Given the description of an element on the screen output the (x, y) to click on. 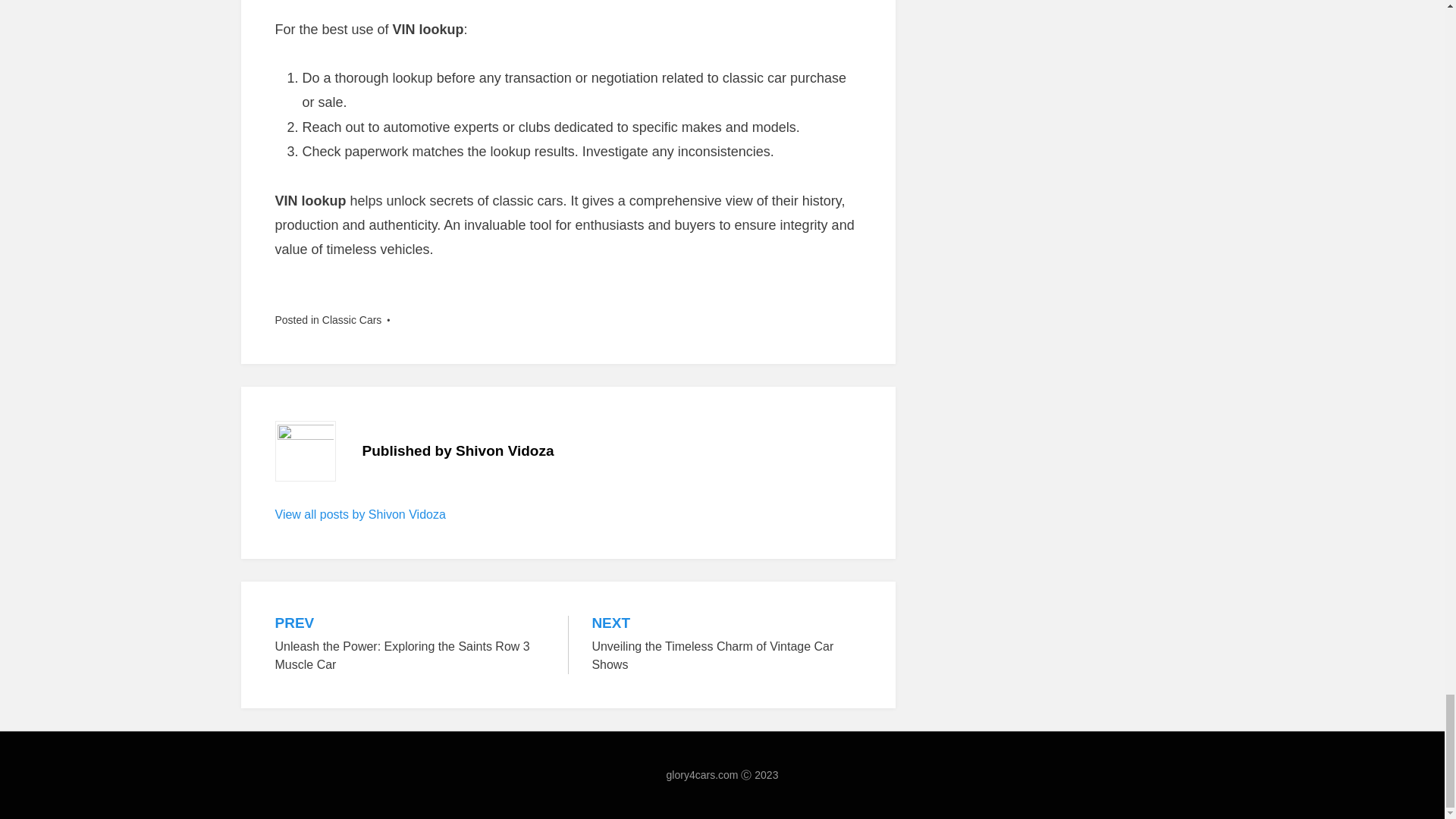
TemplatePocket (365, 796)
View all posts by Shivon Vidoza (726, 644)
TemplatePocket (360, 513)
WordPress (365, 796)
WordPress (481, 796)
Classic Cars (481, 796)
